Given the description of an element on the screen output the (x, y) to click on. 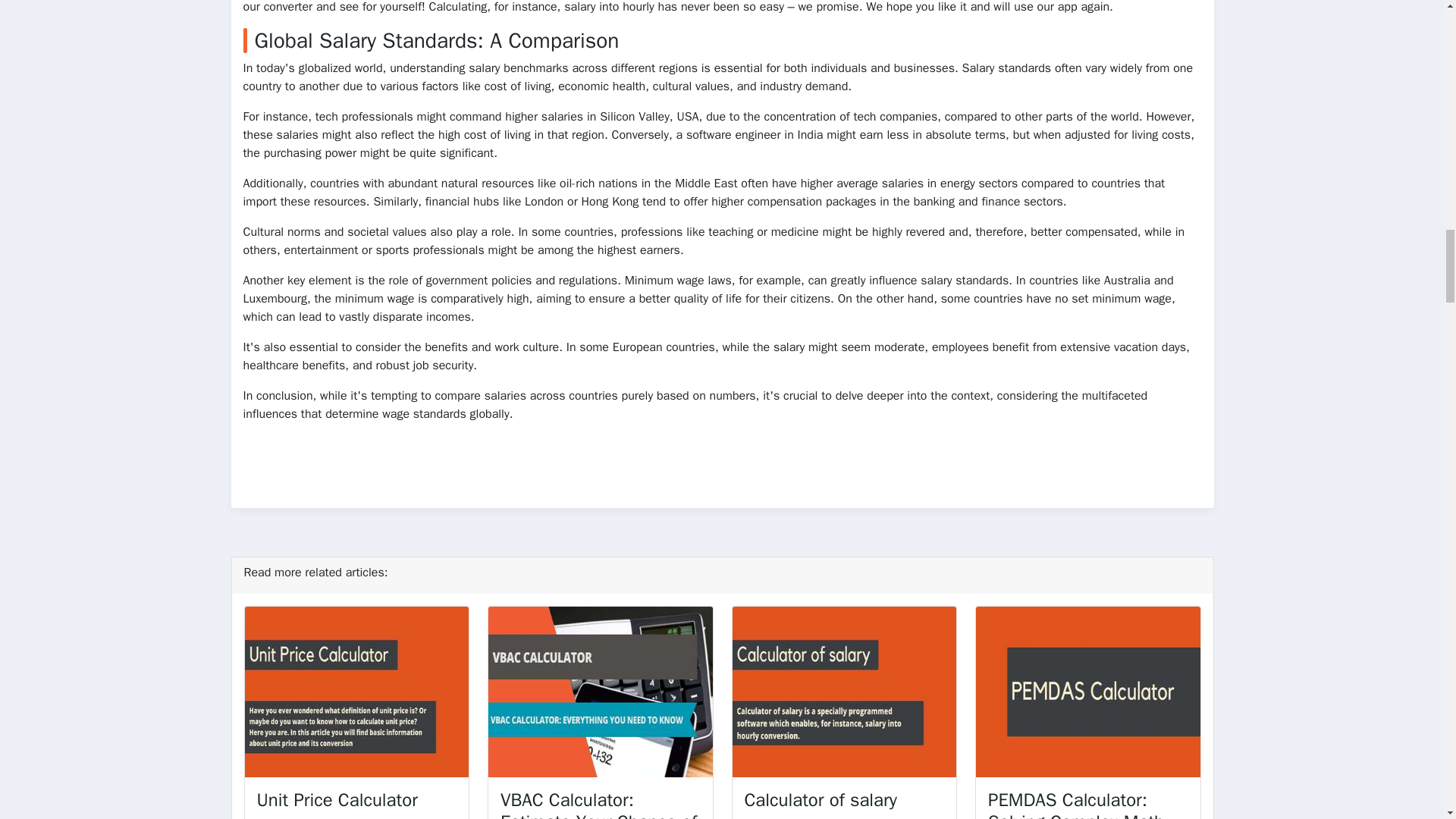
VBAC Calculator: Estimate Your Chance of a Successful VBAC (598, 803)
PEMDAS Calculator: Solving Complex Math Problems Made Easy (1075, 803)
Unit Price Calculator (336, 799)
Calculator of salary (820, 799)
